Given the description of an element on the screen output the (x, y) to click on. 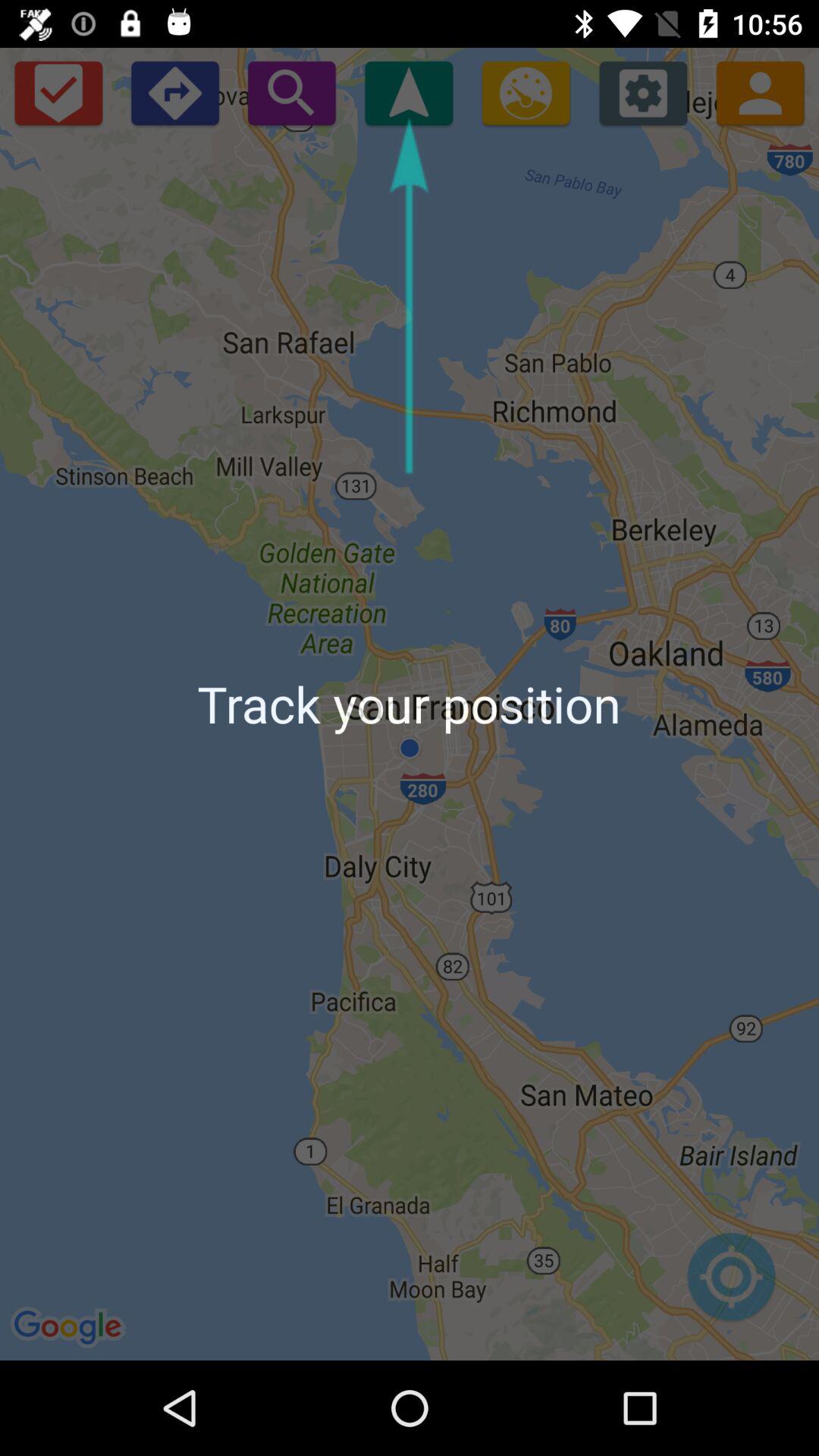
go to directions (174, 92)
